Given the description of an element on the screen output the (x, y) to click on. 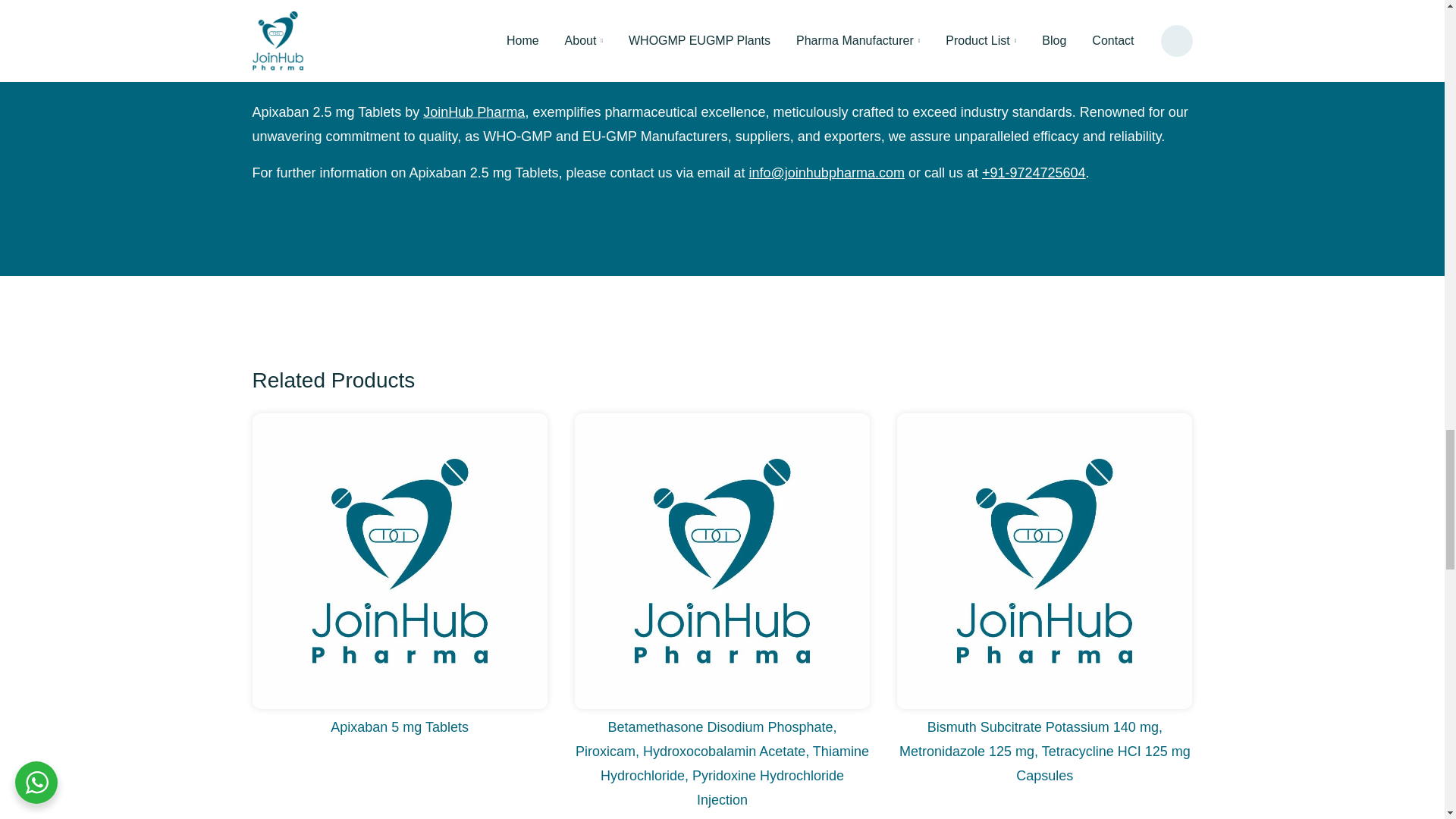
JoinHub Pharma (473, 111)
